Given the description of an element on the screen output the (x, y) to click on. 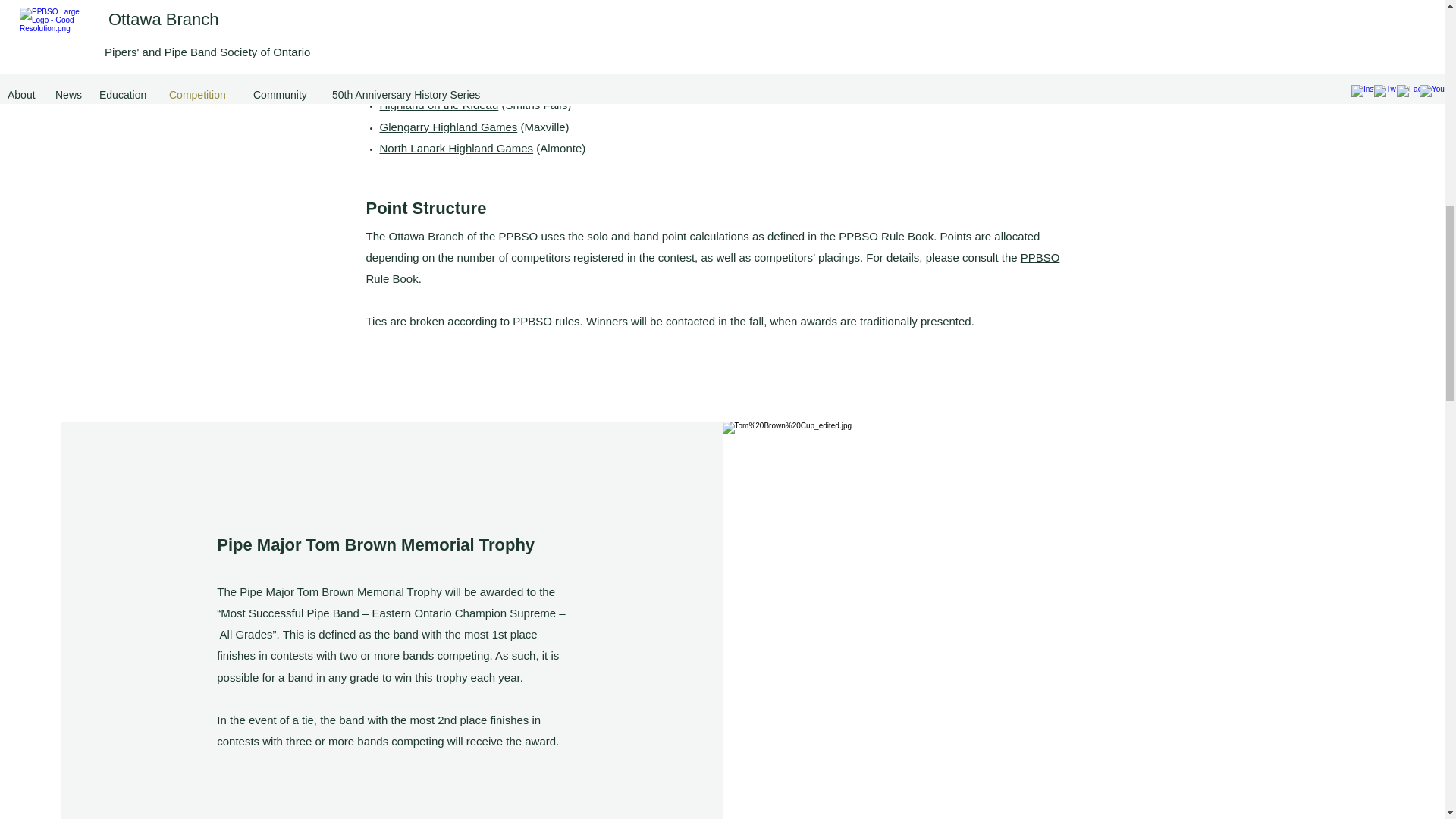
Highland on the Rideau (437, 104)
Kingston Scottish Festival (443, 62)
Ottawa Branch Indoor Highland Games (478, 41)
Glengarry Highland Games (447, 126)
PPBSO Rule Book (712, 267)
Youth Highland Competition (448, 83)
North Lanark Highland Games (455, 147)
